Given the description of an element on the screen output the (x, y) to click on. 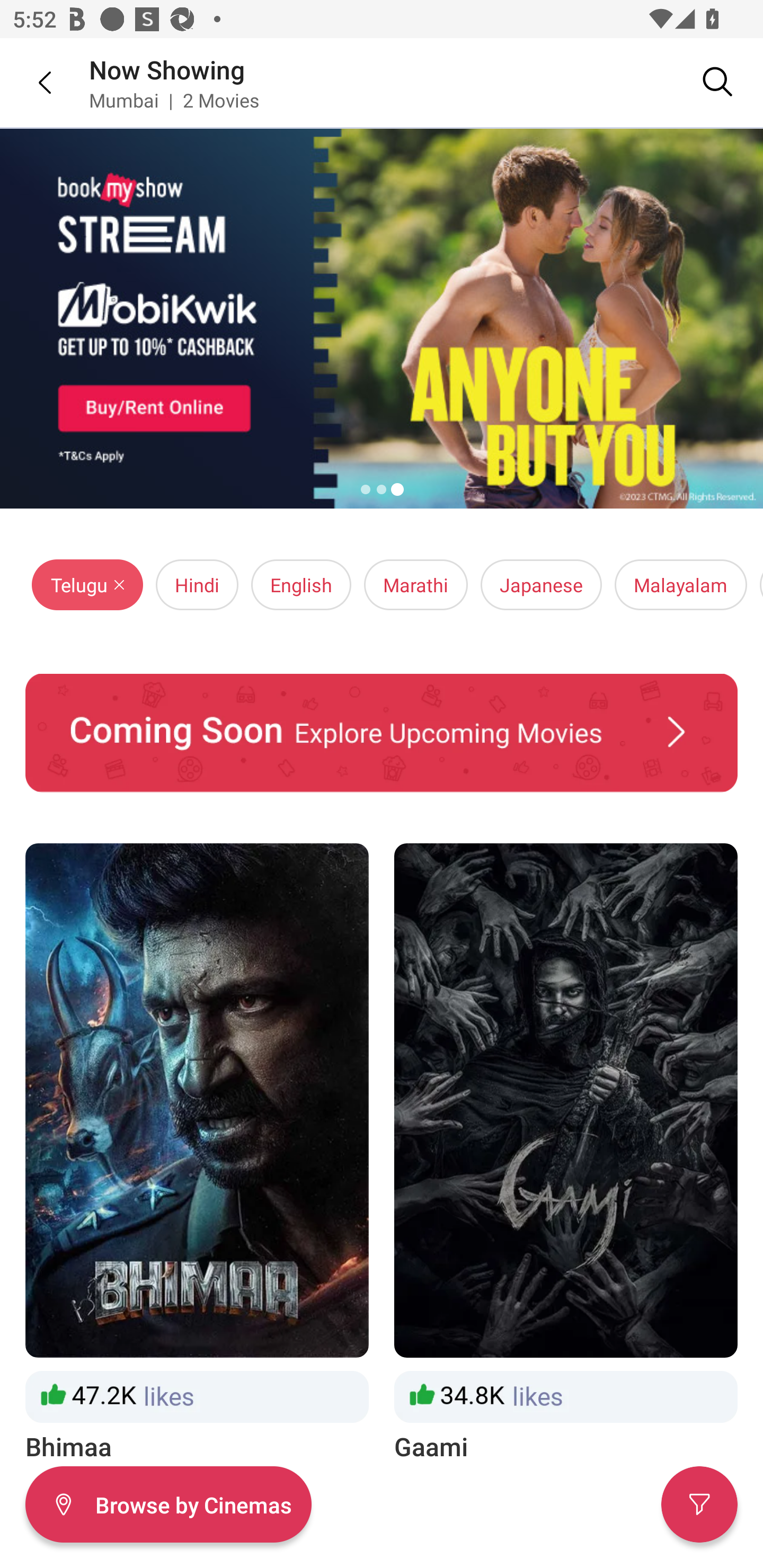
Back (31, 82)
Now Showing (166, 68)
Mumbai  |  2 Movies (174, 99)
Telugu Close (87, 584)
Hindi (196, 584)
English (300, 584)
Marathi (415, 584)
Japanese (541, 584)
Malayalam (680, 584)
Bhimaa (196, 1153)
Gaami (565, 1153)
Filter Browse by Cinemas (168, 1504)
Filter (699, 1504)
